Given the description of an element on the screen output the (x, y) to click on. 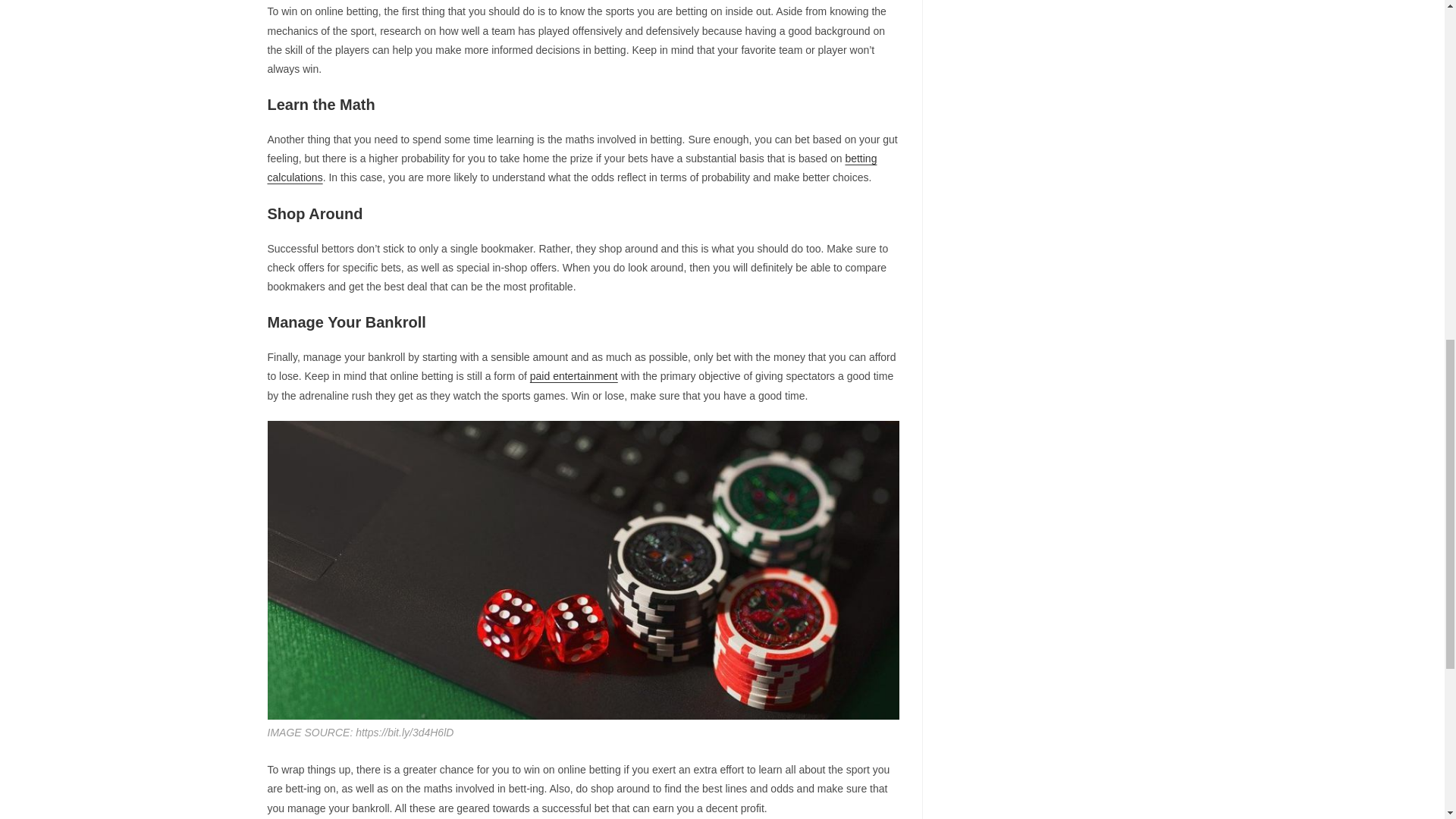
paid entertainment (573, 376)
betting calculations (571, 167)
